Given the description of an element on the screen output the (x, y) to click on. 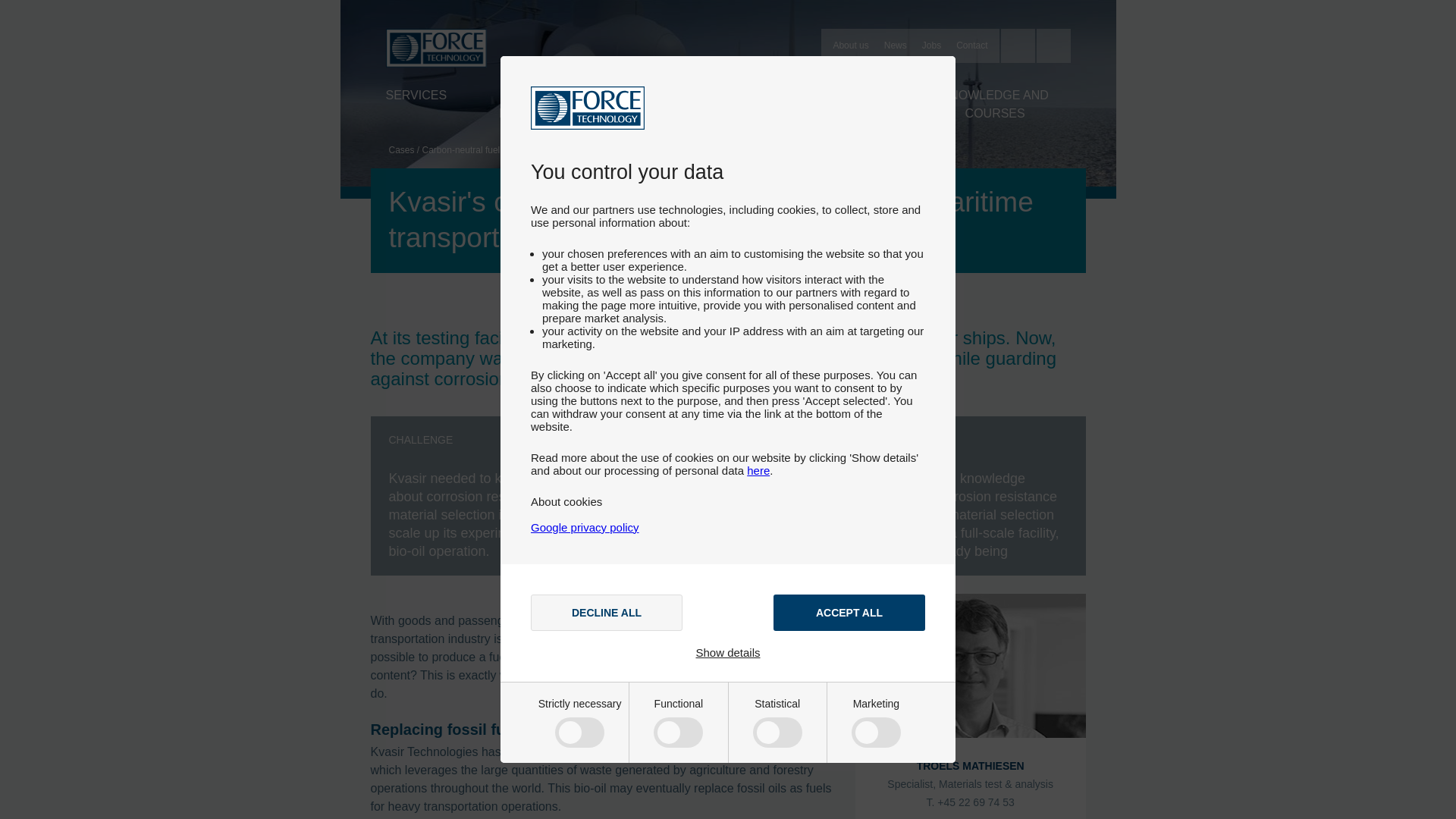
ACCEPT ALL (848, 612)
here (758, 470)
DECLINE ALL (606, 612)
About cookies (566, 501)
Google privacy policy (585, 526)
Show details (727, 652)
